Given the description of an element on the screen output the (x, y) to click on. 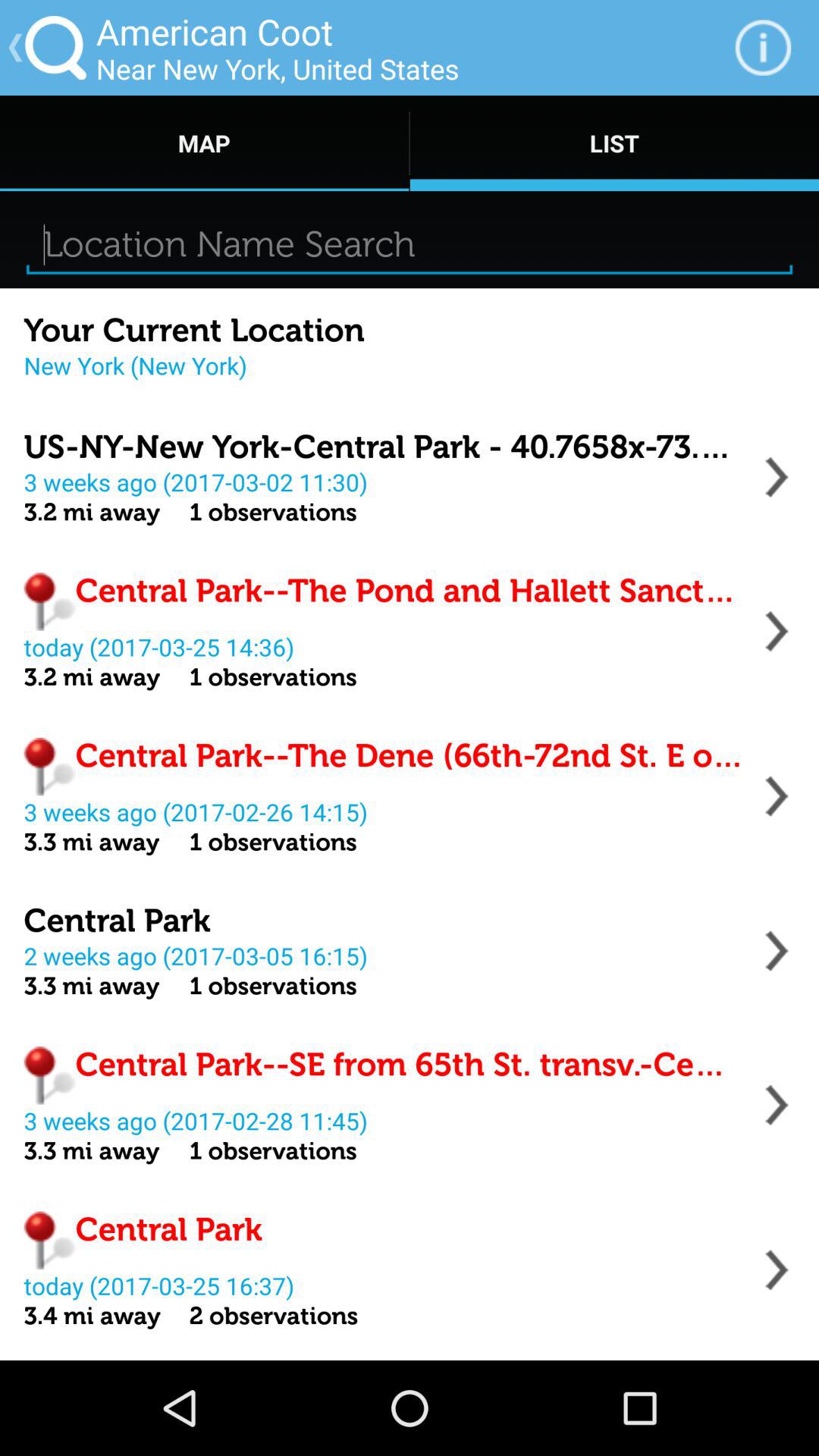
open the us ny new icon (384, 446)
